Given the description of an element on the screen output the (x, y) to click on. 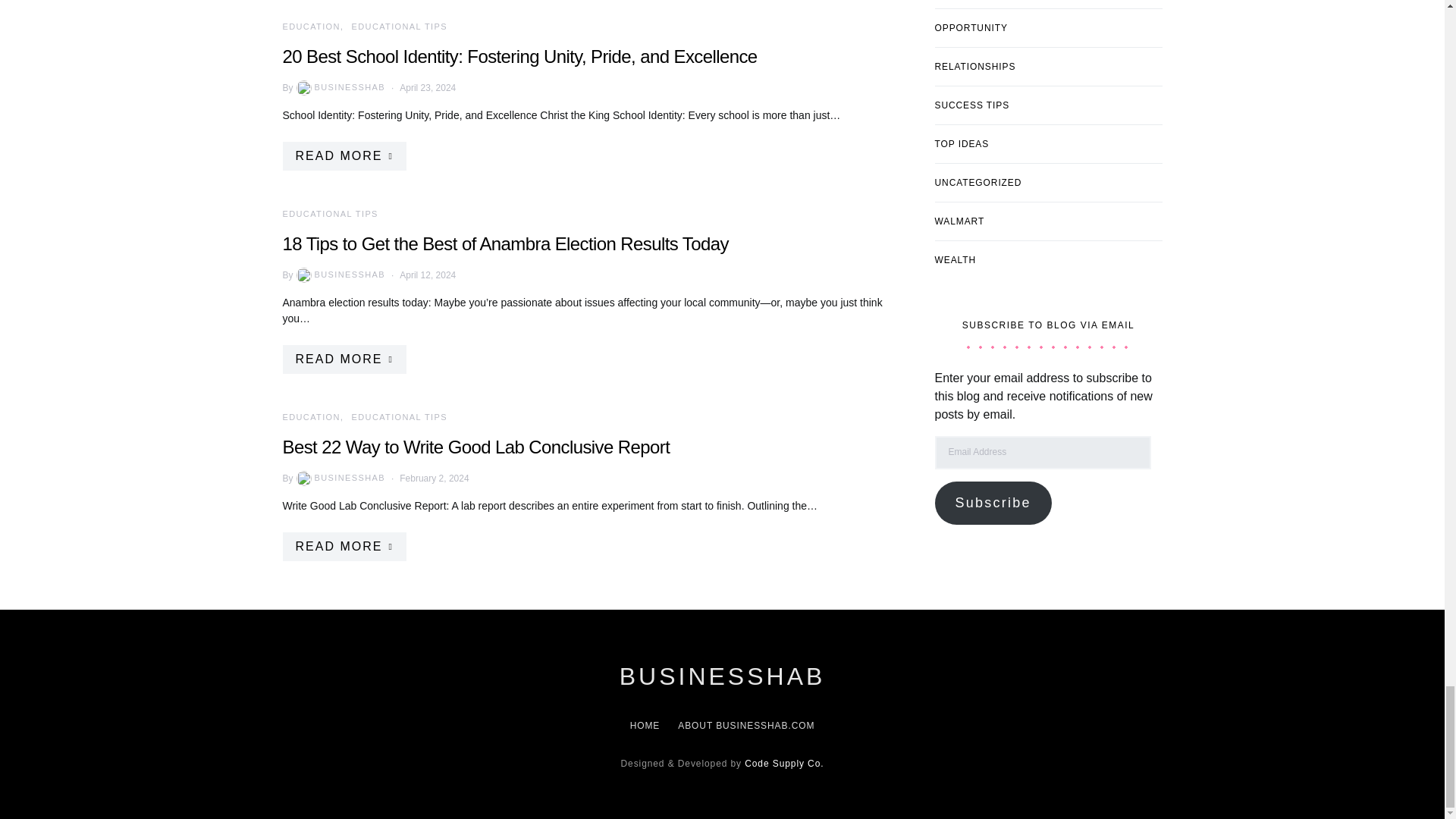
View all posts by BusinessHAB (339, 87)
